Given the description of an element on the screen output the (x, y) to click on. 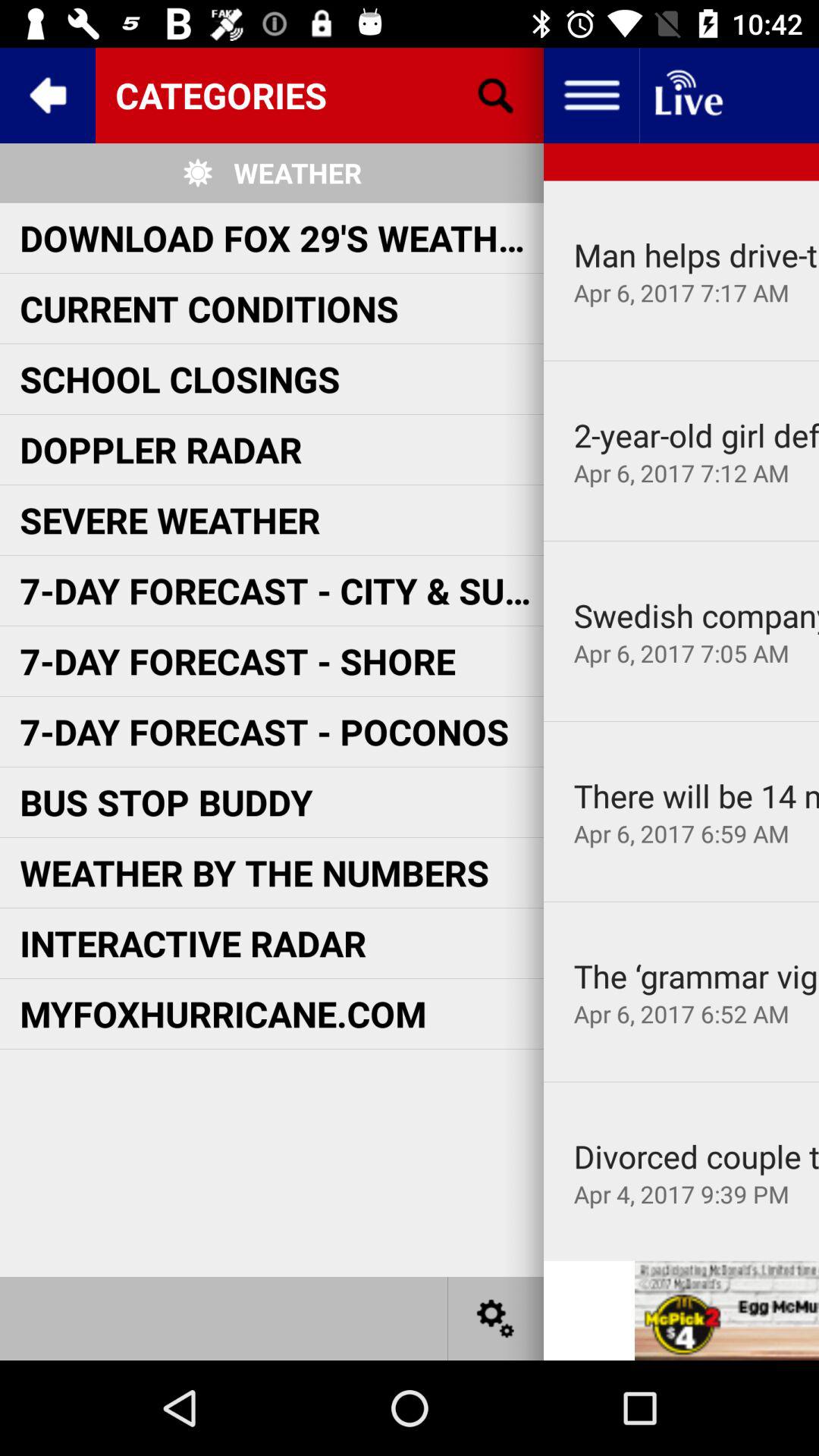
click item above the divorced couple takes icon (681, 1081)
